Given the description of an element on the screen output the (x, y) to click on. 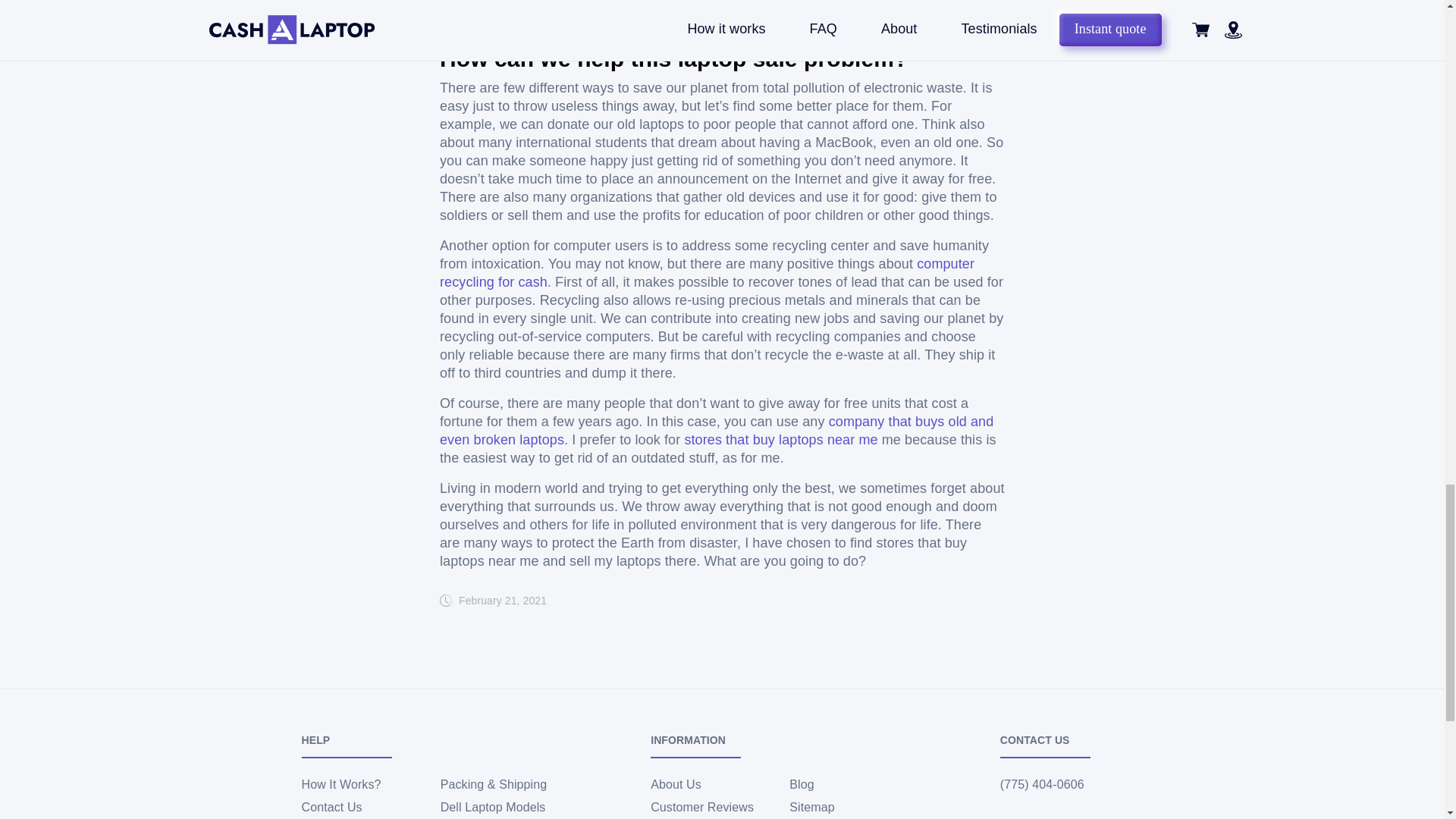
Sitemap (811, 807)
stores that buy laptops near me (780, 439)
Blog (801, 784)
How It Works? (341, 784)
About Us (675, 784)
Contact Us (331, 807)
company that buys old and even broken laptops (715, 430)
Customer Reviews (702, 807)
Dell Laptop Models (493, 807)
computer recycling for cash (706, 272)
